Given the description of an element on the screen output the (x, y) to click on. 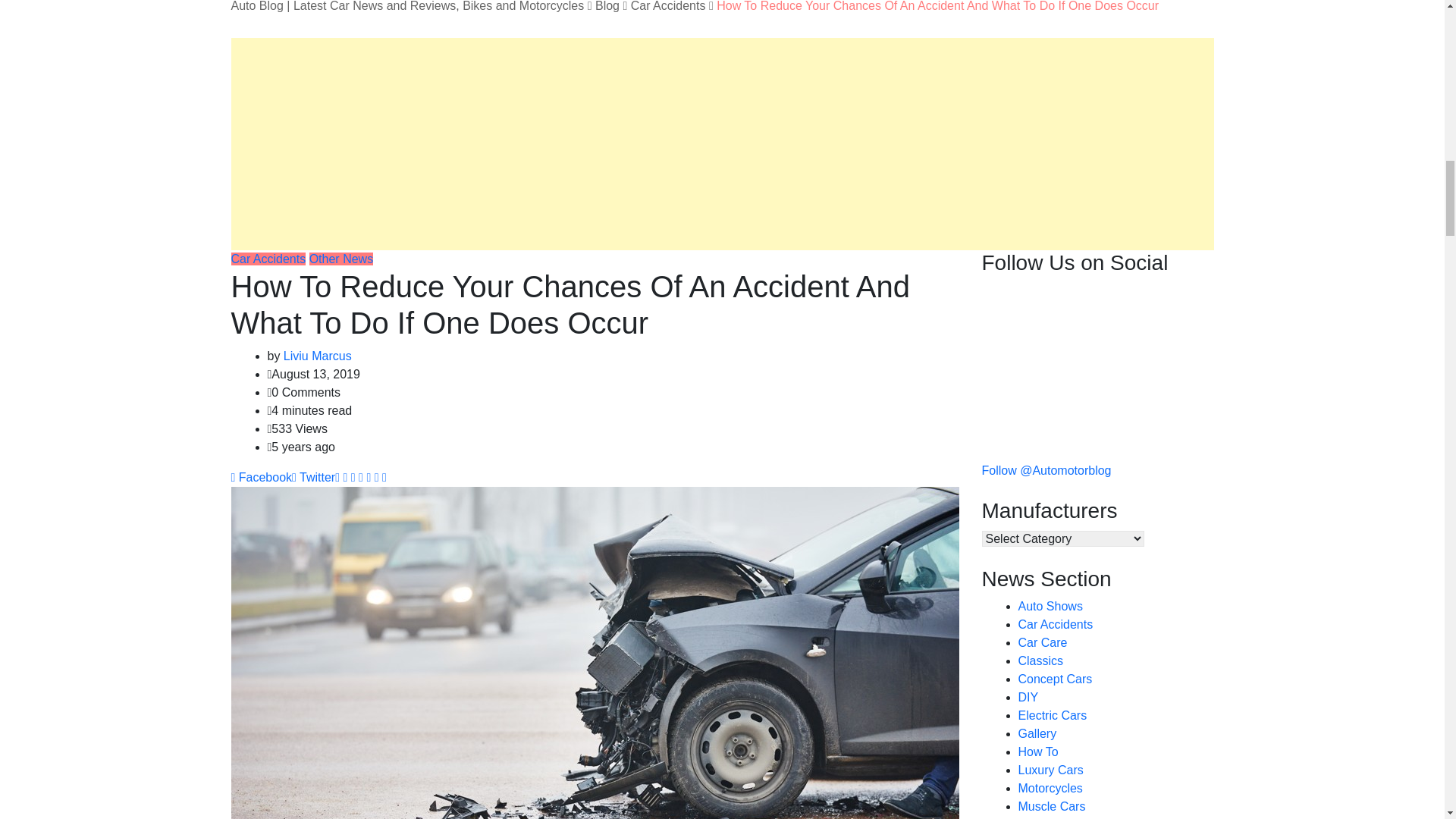
Posts by Liviu Marcus (317, 355)
Go to Blog. (607, 6)
Go to the Car Accidents Category archives. (668, 6)
